Given the description of an element on the screen output the (x, y) to click on. 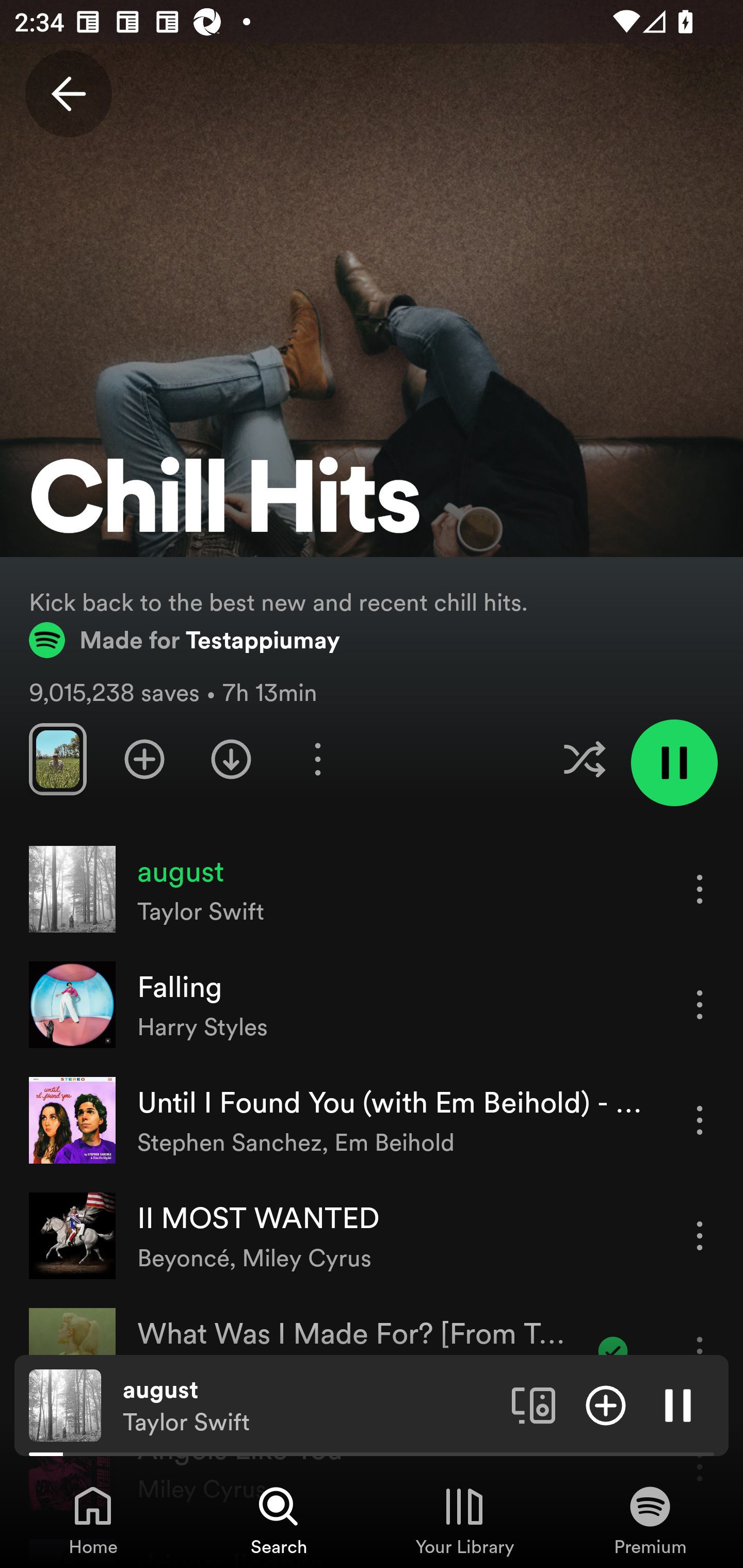
Back (68, 93)
Made for Testappiumay (184, 640)
Swipe through previews of tracks in this playlist. (57, 759)
Add playlist to Your Library (144, 759)
Download (230, 759)
More options for playlist Chill Hits (317, 759)
Enable shuffle for this playlist (583, 759)
Pause playlist (674, 762)
august Taylor Swift More options for song august (371, 889)
More options for song august (699, 888)
Falling Harry Styles More options for song Falling (371, 1005)
More options for song Falling (699, 1004)
More options for song II MOST WANTED (699, 1236)
august Taylor Swift (309, 1405)
The cover art of the currently playing track (64, 1404)
Connect to a device. Opens the devices menu (533, 1404)
Add item (605, 1404)
Pause (677, 1404)
Home, Tab 1 of 4 Home Home (92, 1519)
Search, Tab 2 of 4 Search Search (278, 1519)
Your Library, Tab 3 of 4 Your Library Your Library (464, 1519)
Premium, Tab 4 of 4 Premium Premium (650, 1519)
